Given the description of an element on the screen output the (x, y) to click on. 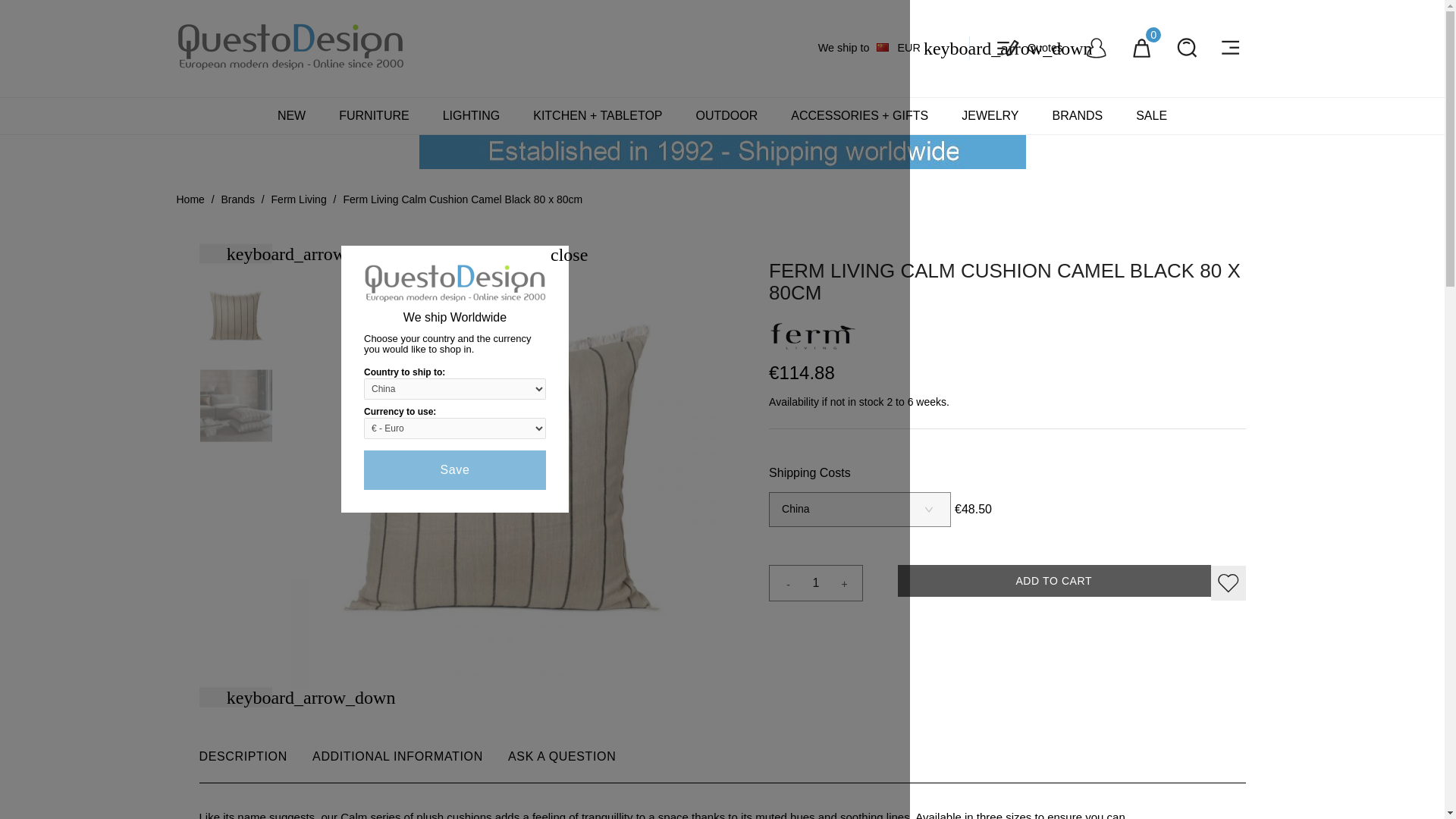
FURNITURE (373, 115)
Save (455, 469)
NEW (290, 115)
1 (815, 582)
Quotes (1029, 47)
LIGHTING (471, 115)
Questo Design (289, 44)
